Given the description of an element on the screen output the (x, y) to click on. 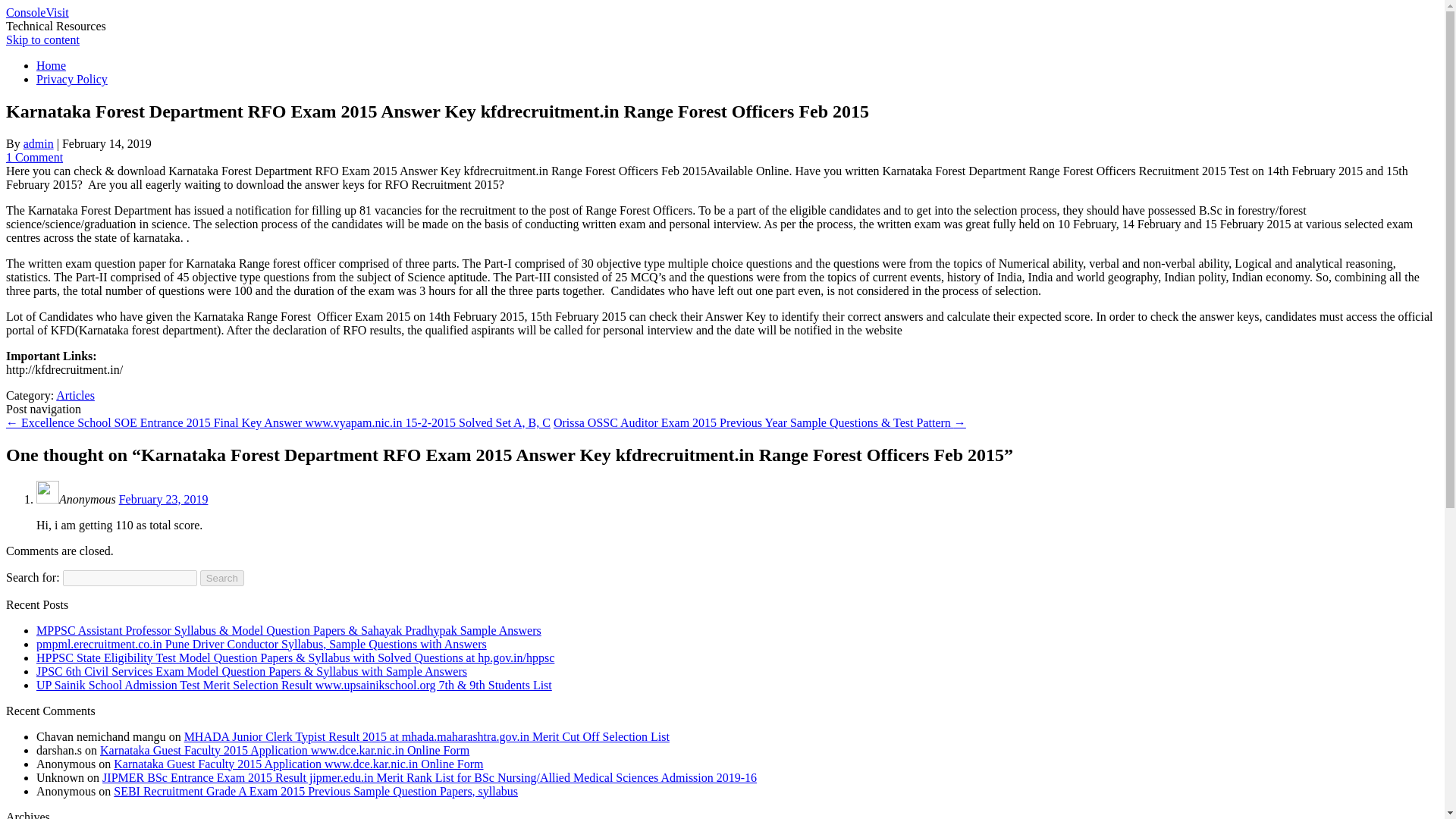
ConsoleVisit (36, 11)
1 Comment (33, 156)
Home (50, 65)
Search (222, 578)
Search (222, 578)
February 23, 2019 (163, 499)
Articles (75, 395)
